Given the description of an element on the screen output the (x, y) to click on. 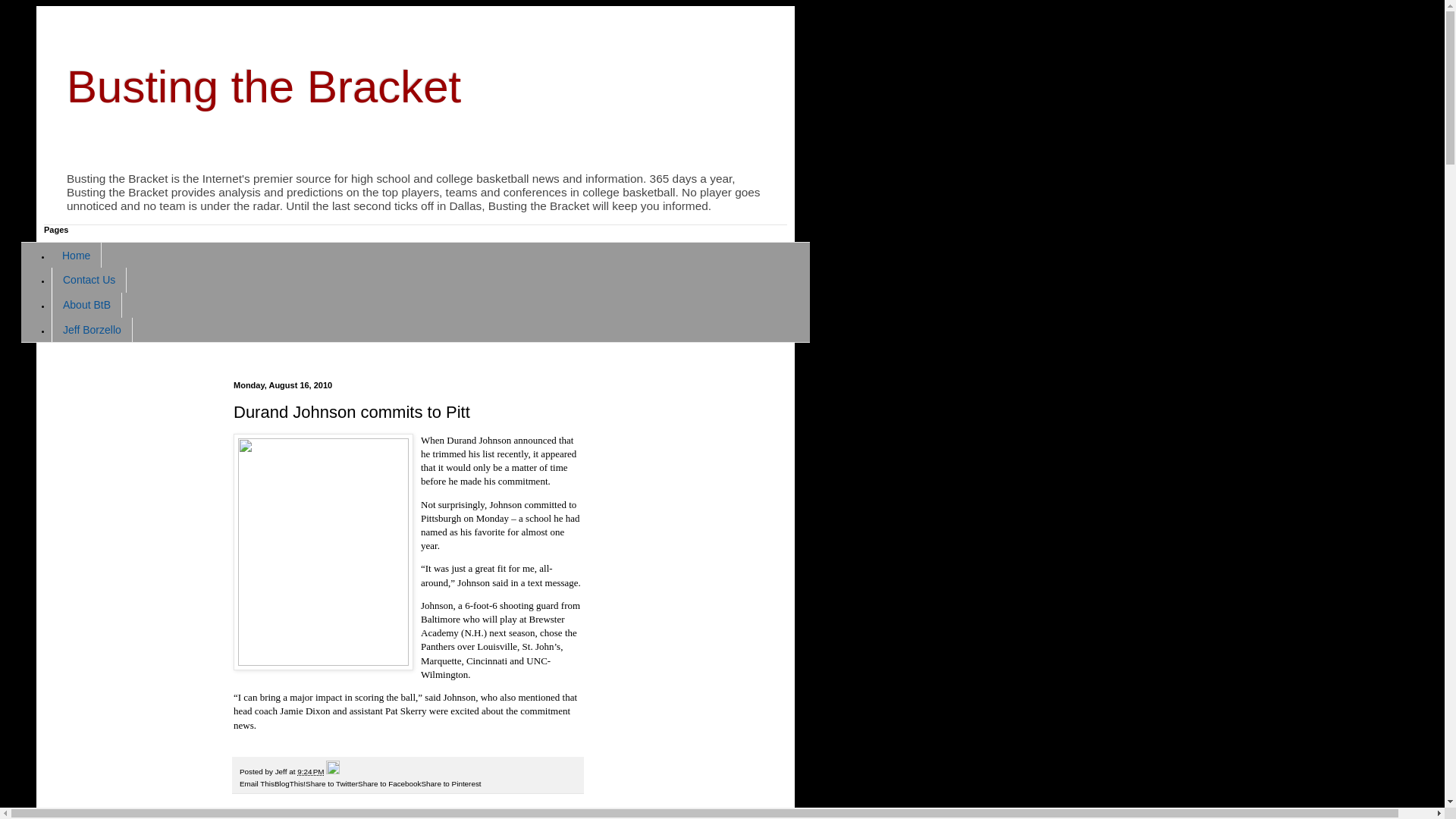
Edit Post (332, 771)
Jeff Borzello (91, 329)
Share to Twitter (331, 783)
Share to Facebook (389, 783)
Contact Us (88, 279)
Share to Facebook (389, 783)
About BtB (86, 304)
BlogThis! (290, 783)
Email This (257, 783)
Busting the Bracket (263, 86)
BlogThis! (290, 783)
Home (75, 254)
Share to Pinterest (451, 783)
Share to Pinterest (451, 783)
